Given the description of an element on the screen output the (x, y) to click on. 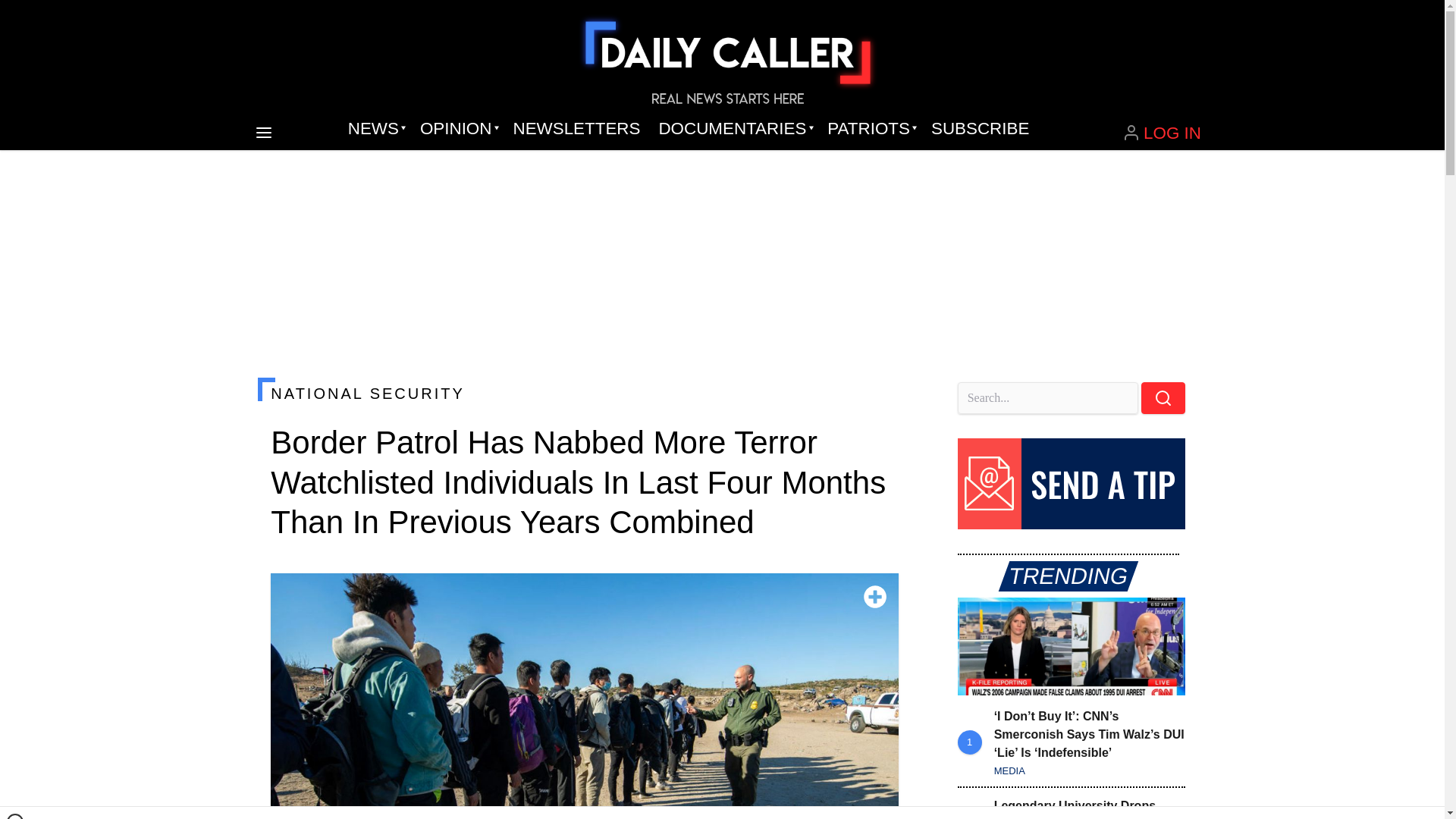
NEWS (374, 128)
Toggle fullscreen (874, 596)
NEWSLETTERS (576, 128)
Close window (14, 816)
PATRIOTS (869, 128)
OPINION (456, 128)
DOCUMENTARIES (733, 128)
SUBSCRIBE (979, 128)
NATIONAL SECURITY (584, 393)
